Given the description of an element on the screen output the (x, y) to click on. 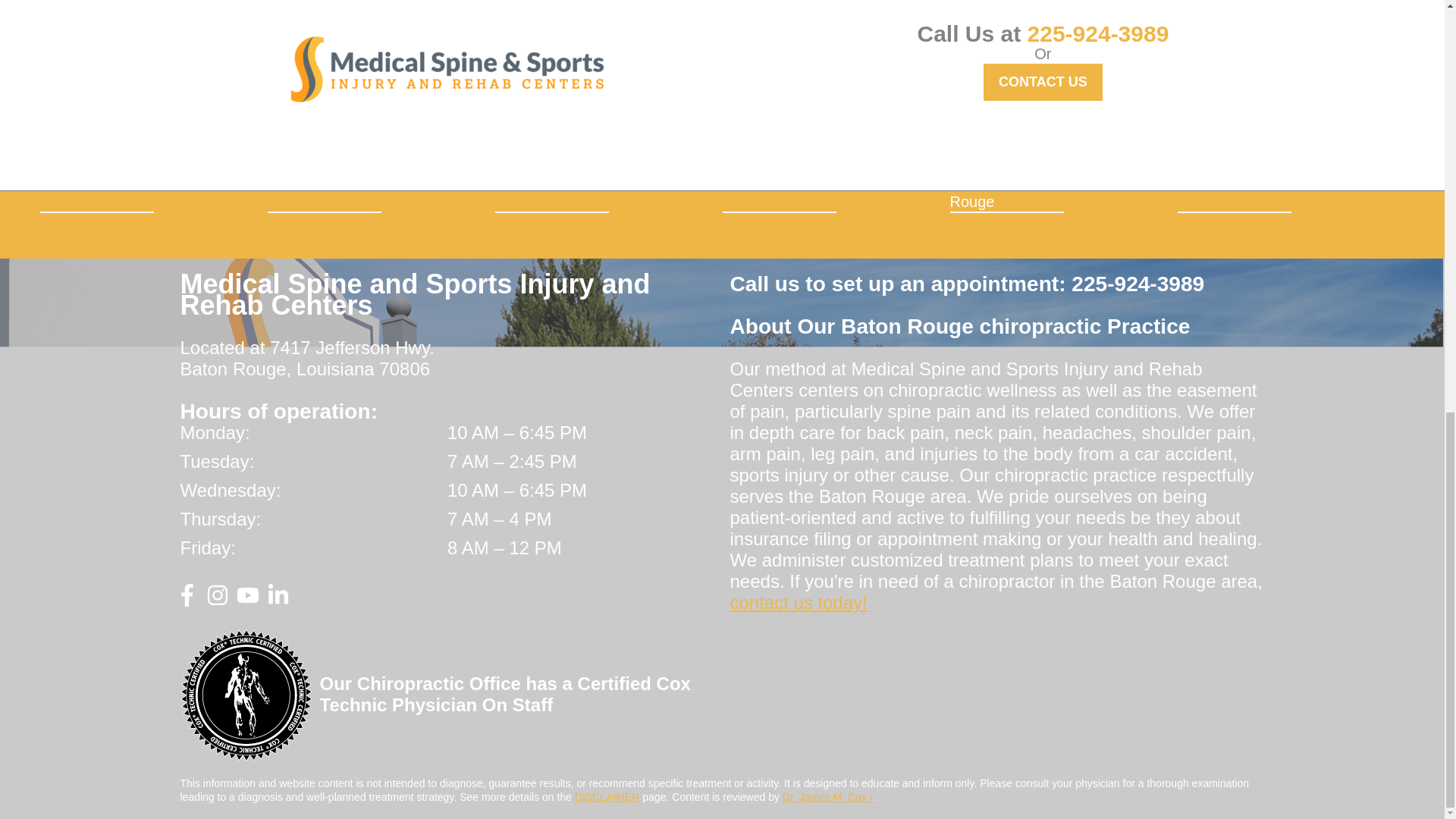
Subscribe to us on YouTube (247, 600)
Like us on Facebook (187, 600)
Connect with us on LinkedIn (277, 600)
Follow us on Instagram (217, 600)
